Given the description of an element on the screen output the (x, y) to click on. 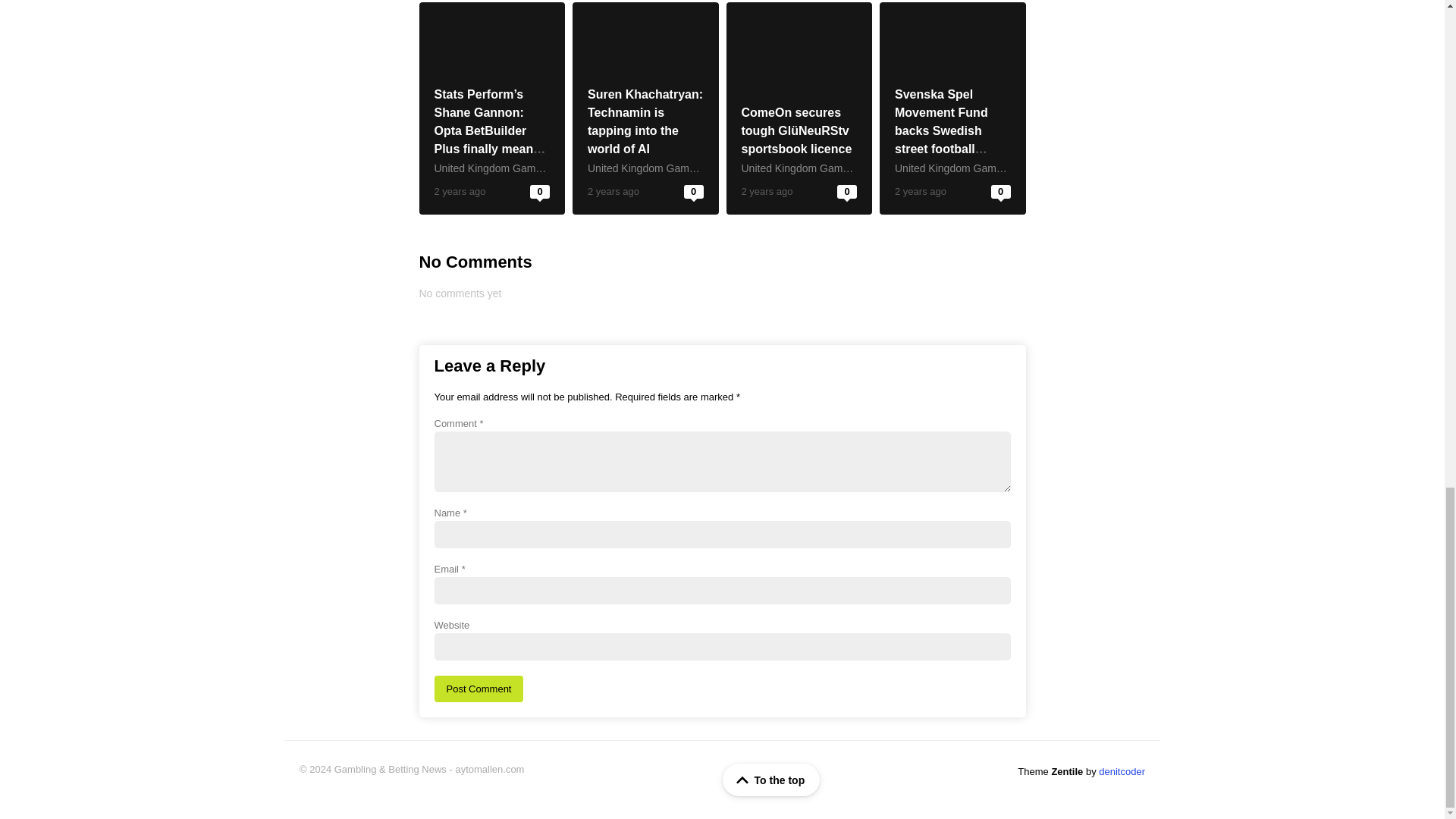
United Kingdom Gambling Commission (987, 168)
Suren Khachatryan: Technamin is tapping into the world of AI (645, 121)
denitcoder (1121, 771)
Post Comment (477, 688)
United Kingdom Gambling Commission (833, 168)
United Kingdom Gambling Commission (680, 168)
United Kingdom Gambling Commission (525, 168)
To the top (771, 779)
Post Comment (477, 688)
